Given the description of an element on the screen output the (x, y) to click on. 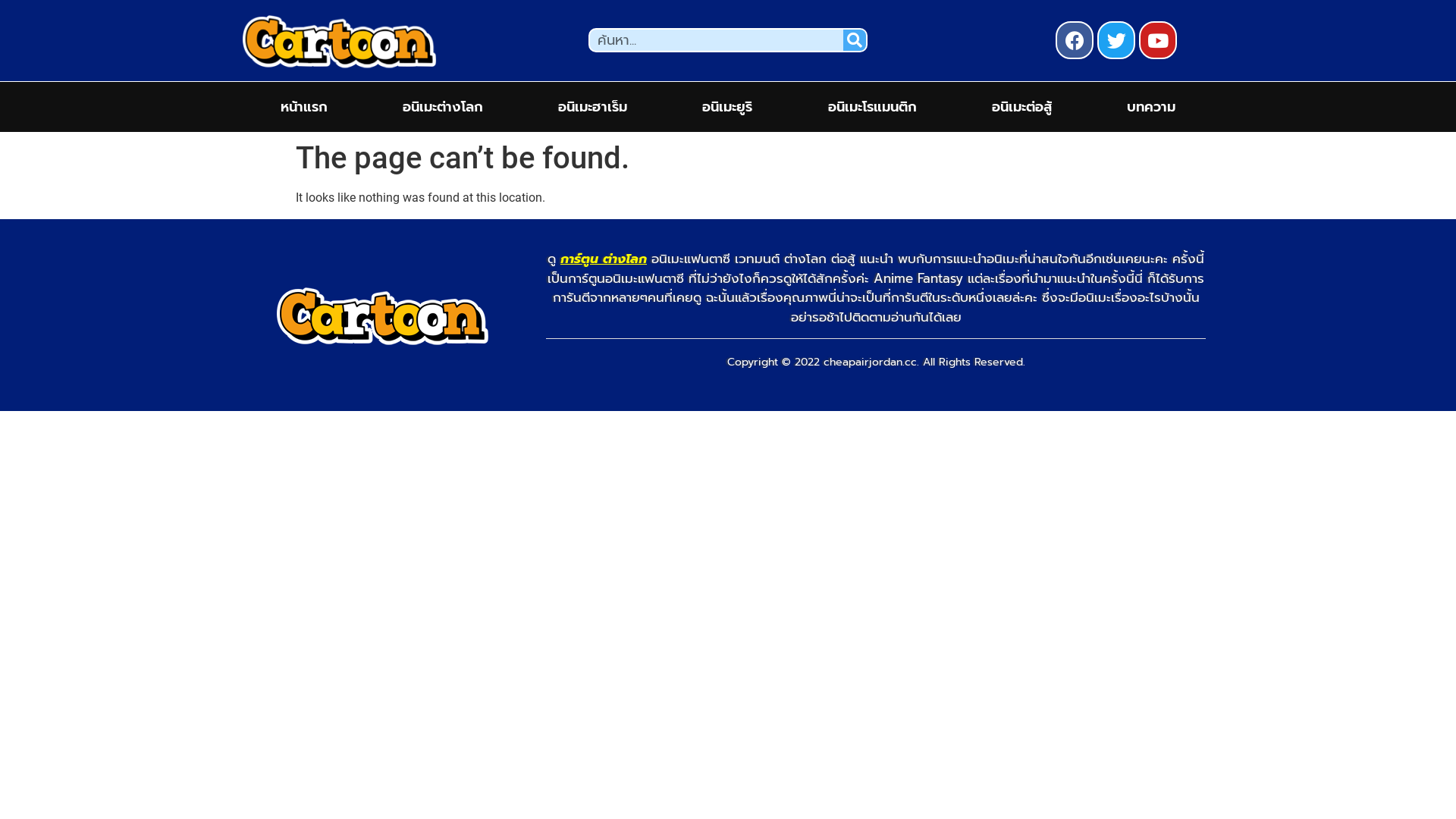
Search Element type: hover (716, 39)
Search Element type: hover (854, 39)
